Given the description of an element on the screen output the (x, y) to click on. 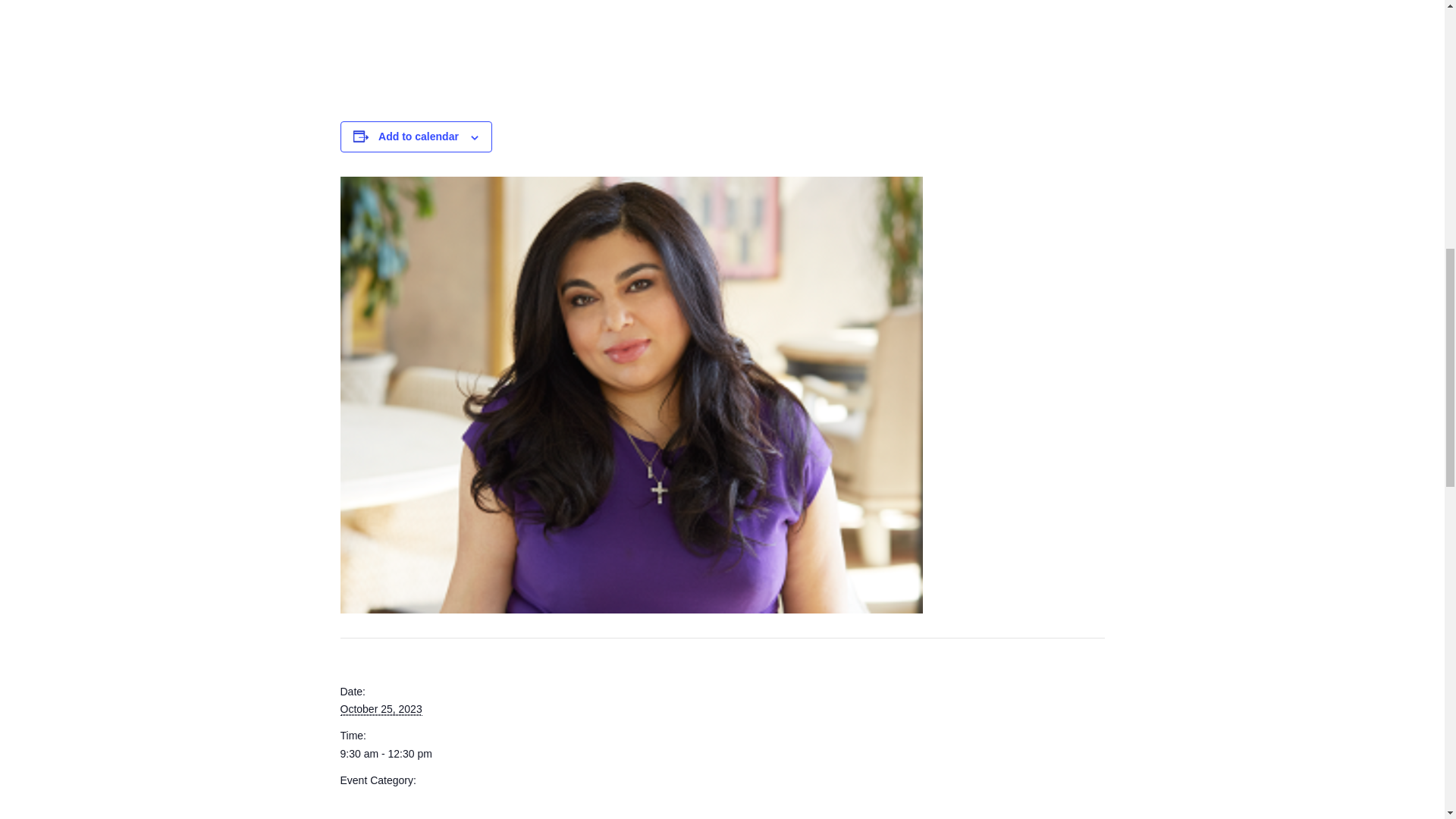
2023-10-25 (380, 708)
2023-10-25 (403, 753)
